Given the description of an element on the screen output the (x, y) to click on. 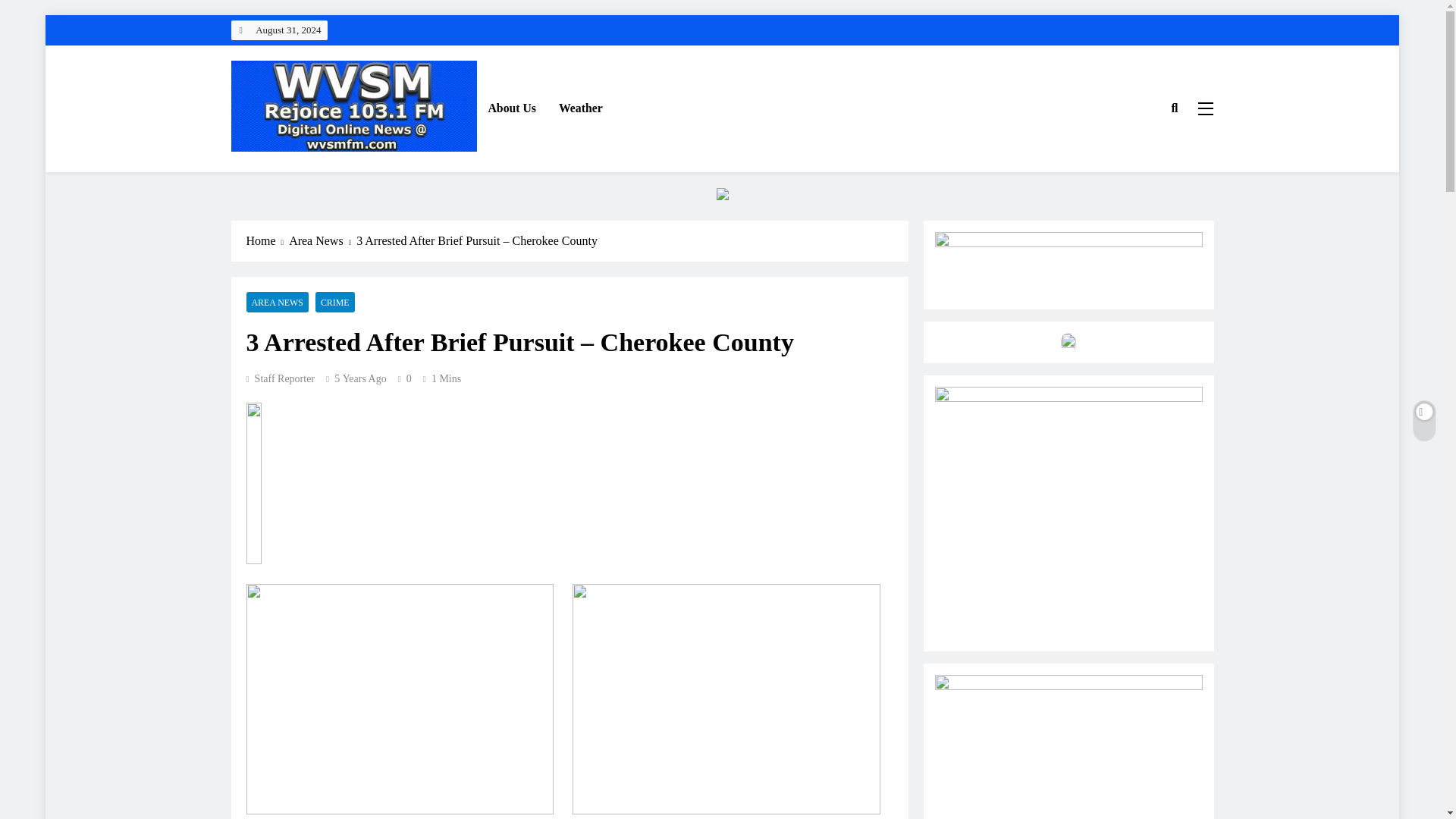
AREA NEWS (276, 301)
5 Years Ago (360, 378)
CRIME (335, 301)
About Us (511, 107)
Weather (580, 107)
Staff Reporter (280, 378)
Area News (322, 240)
Home (267, 240)
WVSM Digital Online News (368, 173)
